Given the description of an element on the screen output the (x, y) to click on. 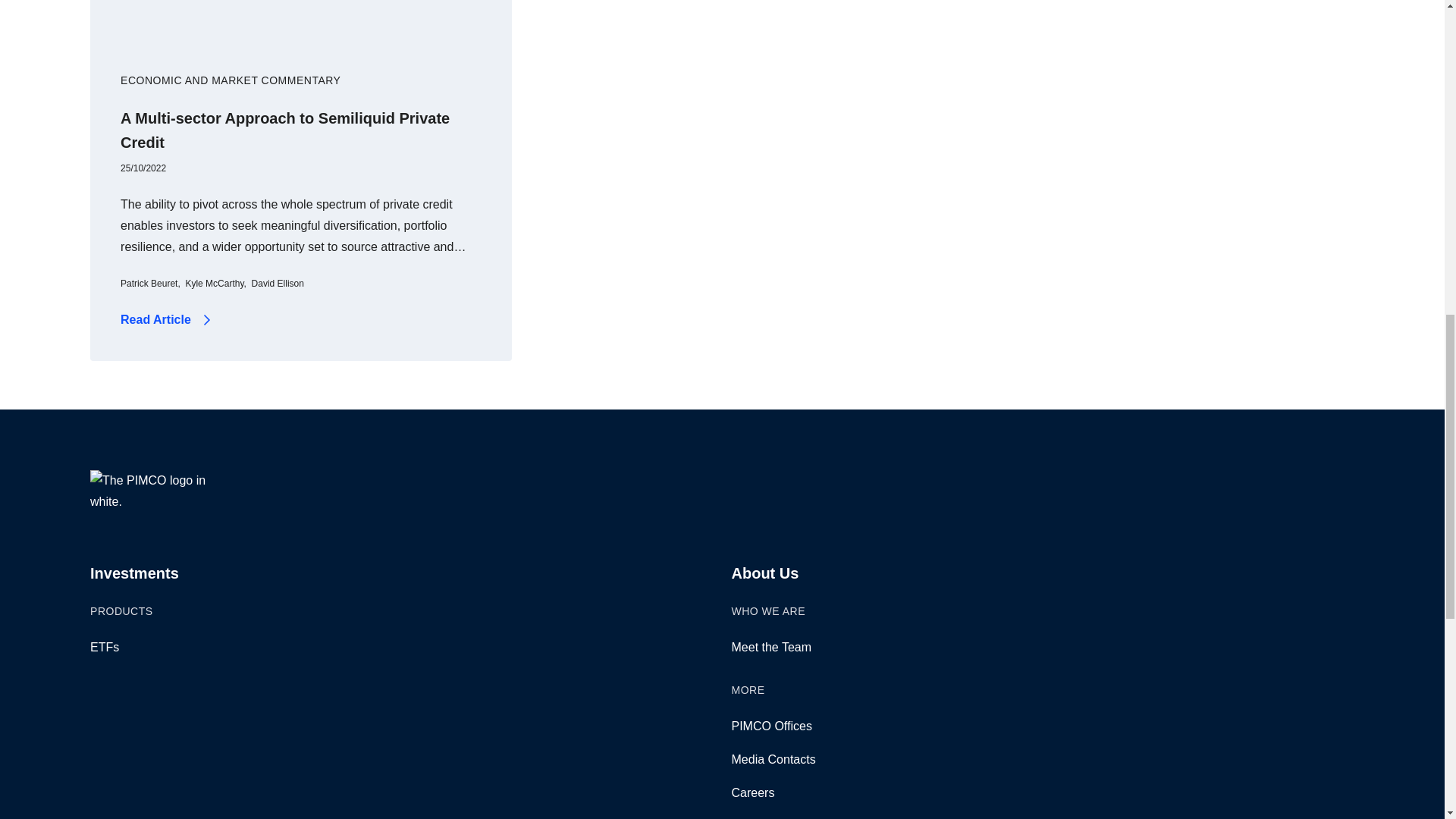
A Multi-sector Approach to Semiliquid Private Credit (284, 129)
